Given the description of an element on the screen output the (x, y) to click on. 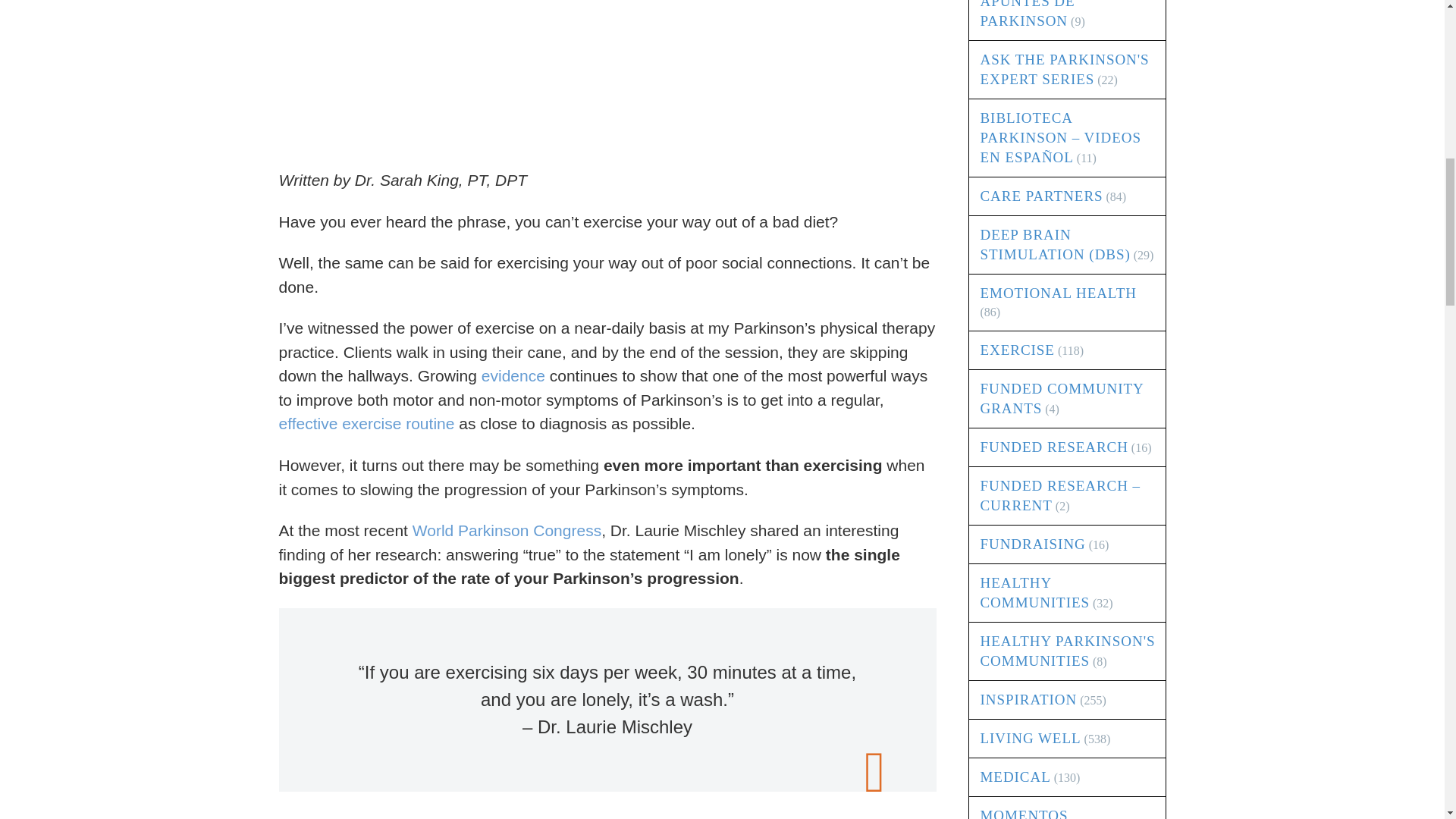
View all posts filed under Ask the Parkinson's Expert Series (1063, 68)
View all posts filed under Apuntes de Parkinson (1026, 14)
View all posts filed under Care Partners (1040, 195)
